Given the description of an element on the screen output the (x, y) to click on. 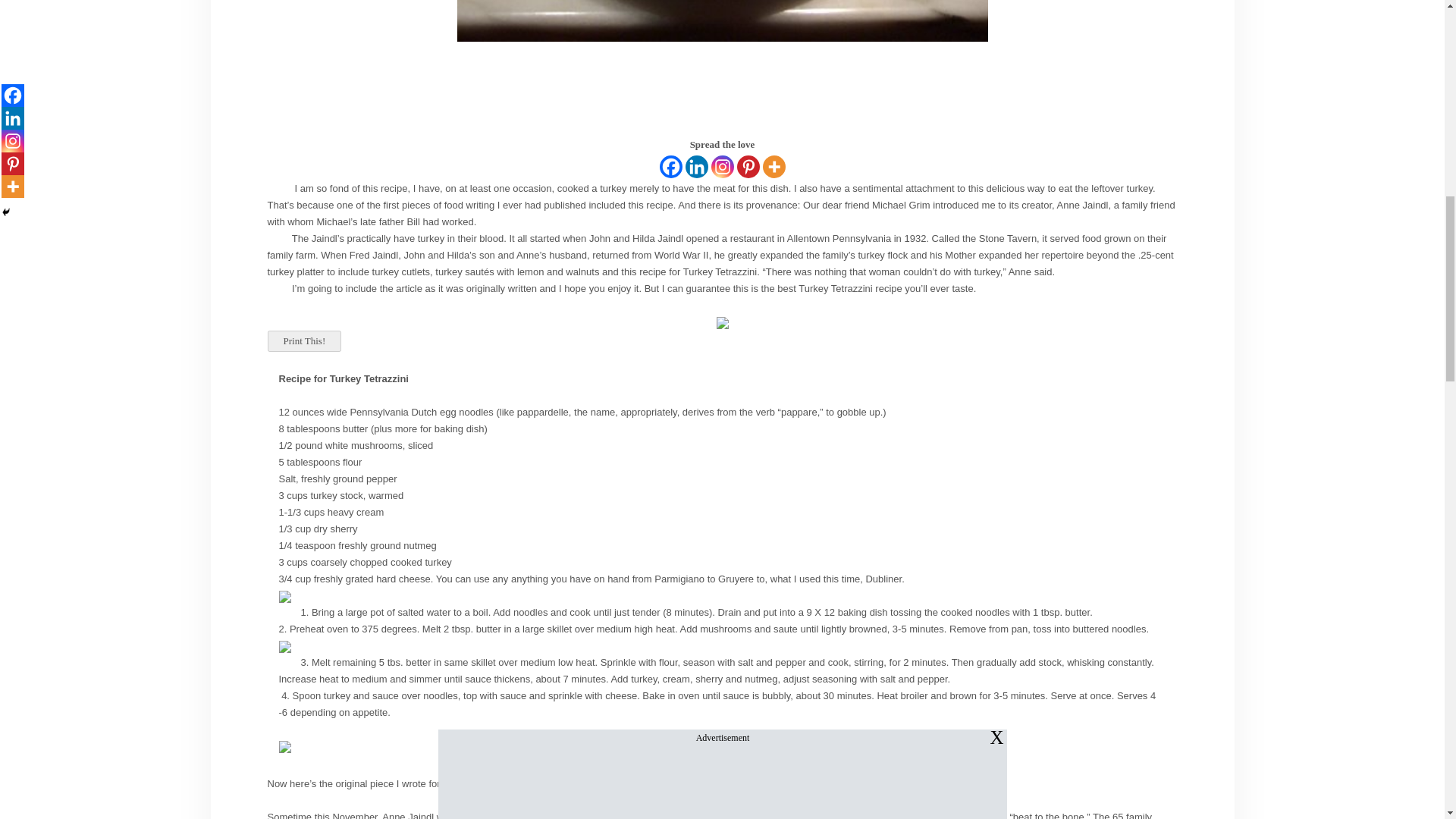
More (774, 166)
Pinterest (748, 166)
Linkedin (696, 166)
Instagram (722, 166)
Facebook (670, 166)
3rd party ad content (721, 94)
